Given the description of an element on the screen output the (x, y) to click on. 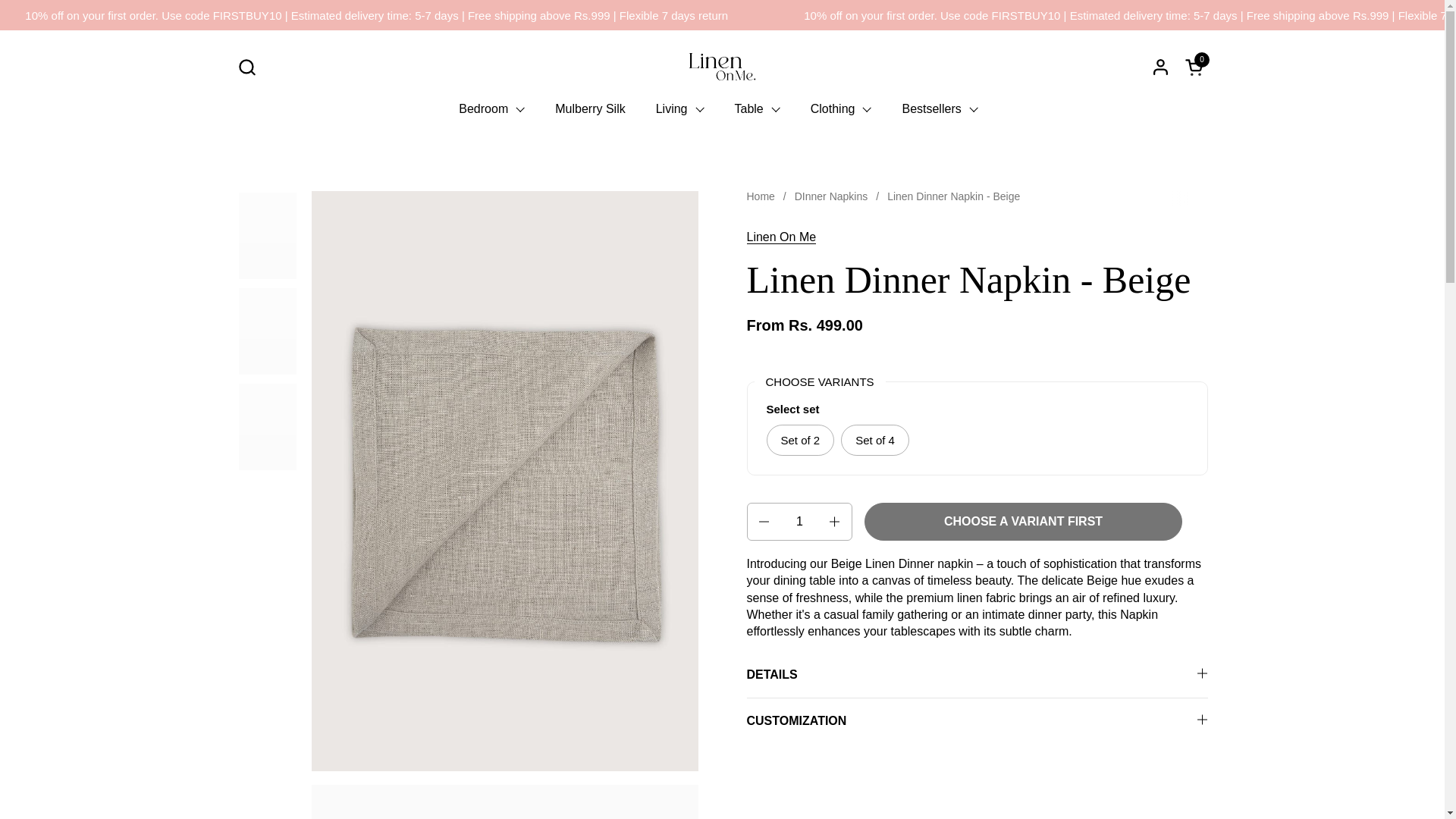
Living (679, 108)
Linen On Me (780, 237)
Bestsellers (939, 108)
Bedroom (492, 108)
Open cart (1196, 66)
Open search (1196, 66)
Mulberry Silk (245, 66)
Clothing (590, 108)
Skip to content (840, 108)
